Given the description of an element on the screen output the (x, y) to click on. 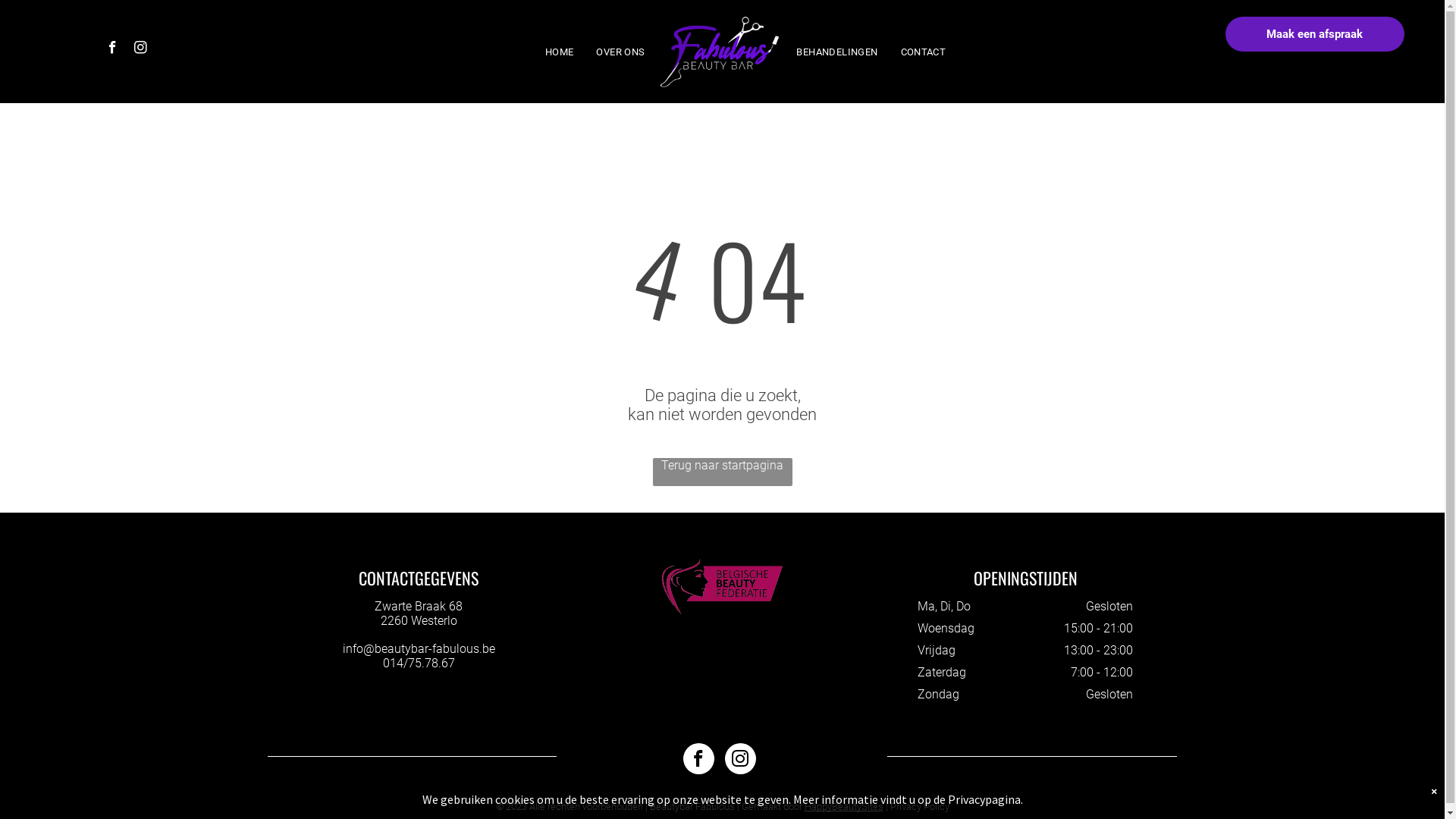
CONTACT Element type: text (923, 51)
HOME Element type: text (559, 51)
HappyBeautySites Element type: text (842, 806)
Terug naar startpagina Element type: text (721, 472)
OVER ONS Element type: text (619, 51)
Maak een afspraak Element type: text (1314, 33)
BEHANDELINGEN Element type: text (836, 51)
